Given the description of an element on the screen output the (x, y) to click on. 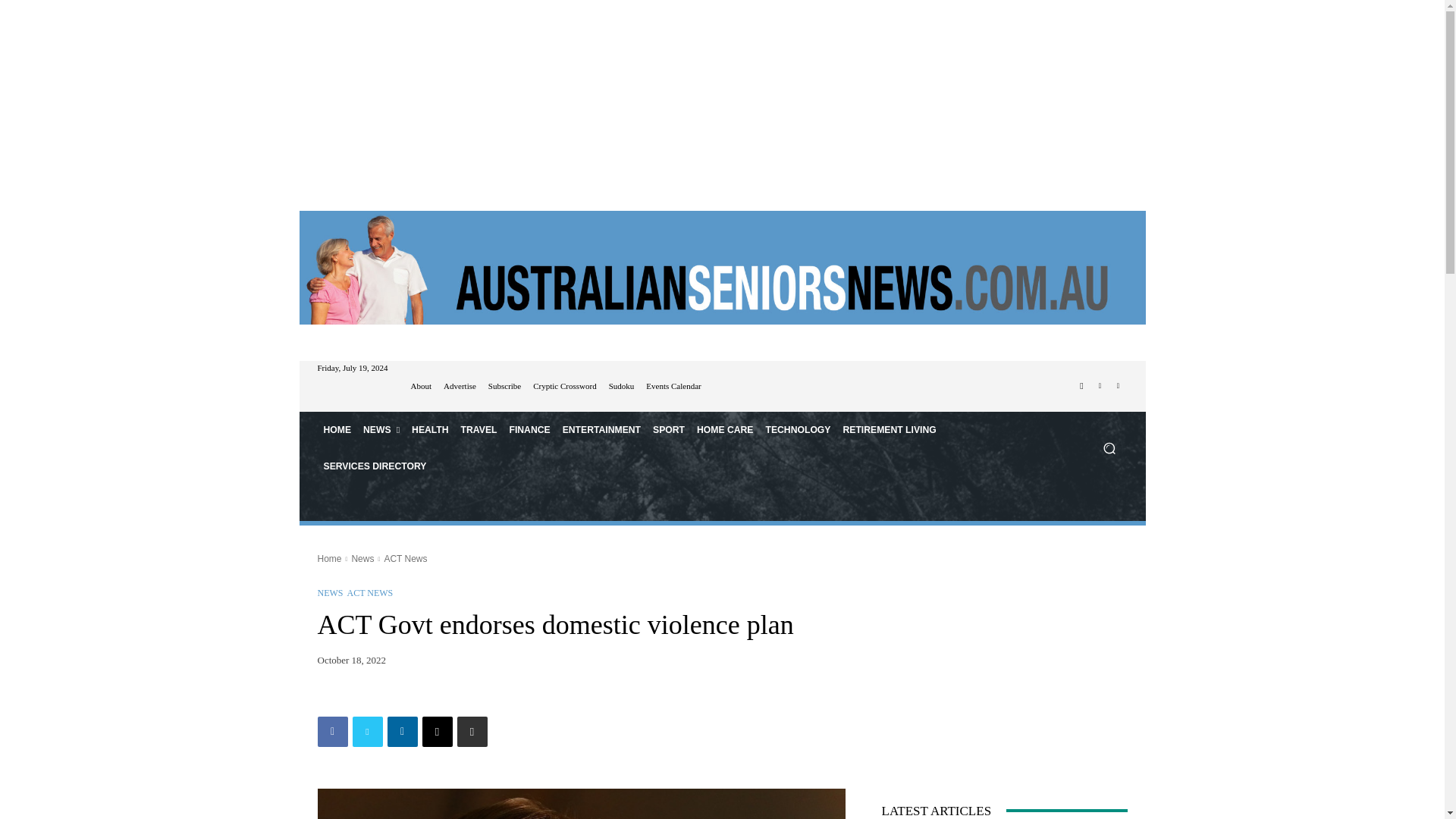
HOME (336, 429)
Twitter (366, 731)
Print (471, 731)
Advertise (460, 386)
Linkedin (1099, 385)
About (421, 386)
Subscribe (504, 386)
Facebook (1080, 385)
NEWS (381, 429)
Twitter (1117, 385)
View all posts in ACT News (405, 558)
Email (436, 731)
Cryptic Crossword (563, 386)
Facebook (332, 731)
